Given the description of an element on the screen output the (x, y) to click on. 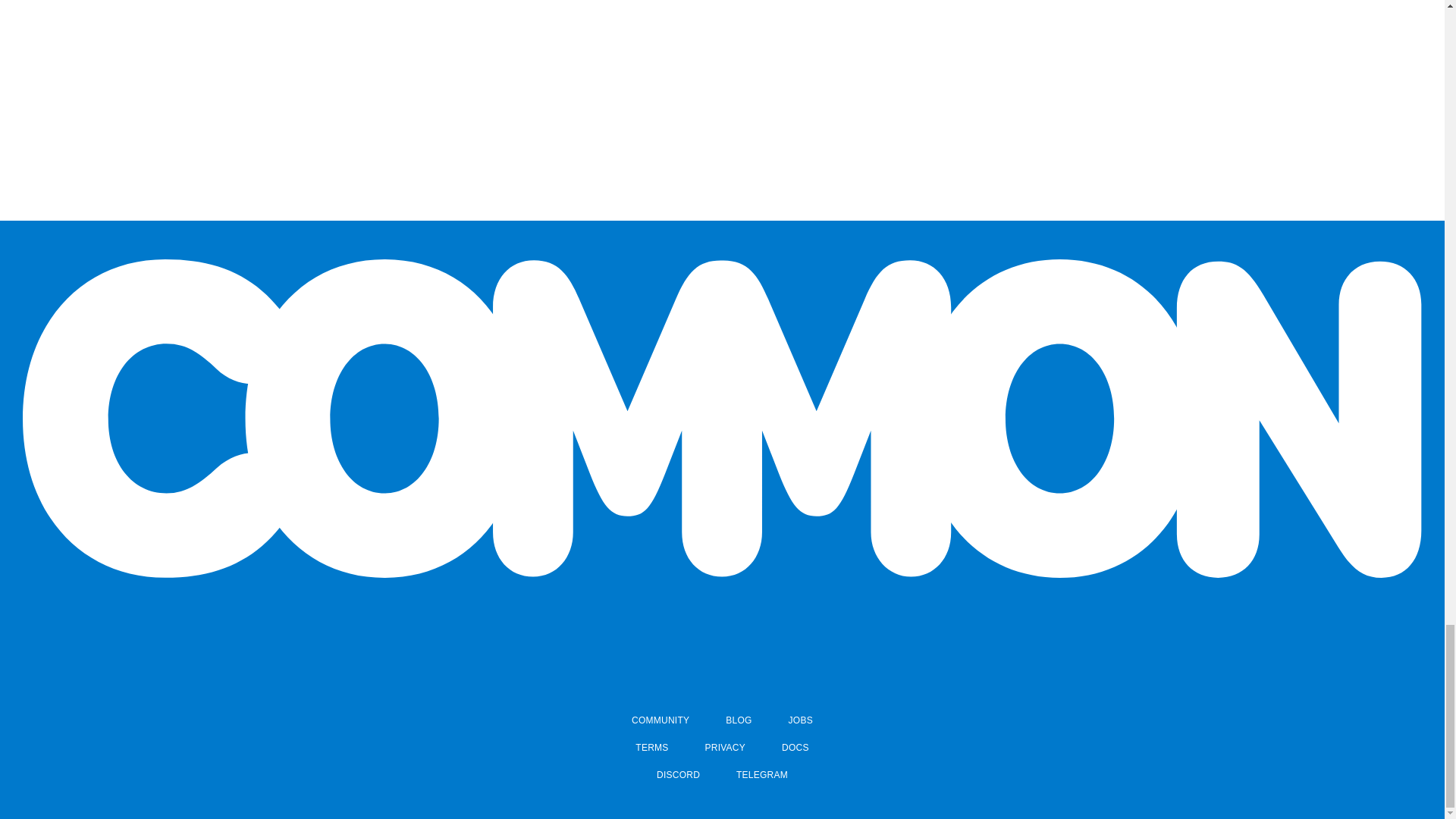
DISCORD (678, 774)
TERMS (651, 747)
JOBS (800, 719)
PRIVACY (724, 747)
COMMUNITY (659, 719)
TELEGRAM (761, 774)
BLOG (738, 719)
DOCS (795, 747)
